Given the description of an element on the screen output the (x, y) to click on. 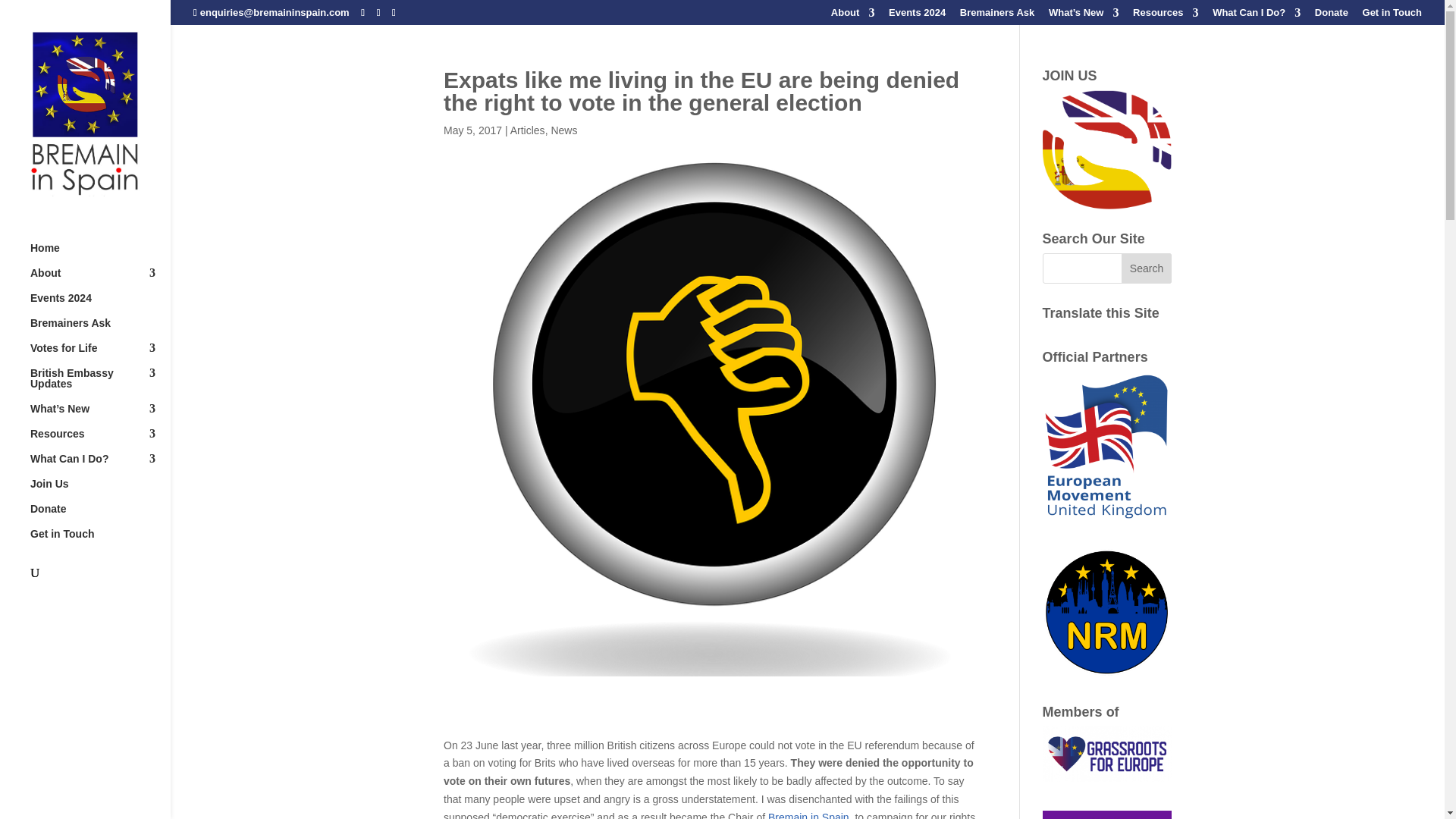
Get in Touch (1392, 16)
Search (1146, 268)
About (853, 16)
Bremainers Ask (997, 16)
Bremain in Spain (1107, 149)
What Can I Do? (1256, 16)
Events 2024 (916, 16)
Resources (1165, 16)
Donate (1331, 16)
